Given the description of an element on the screen output the (x, y) to click on. 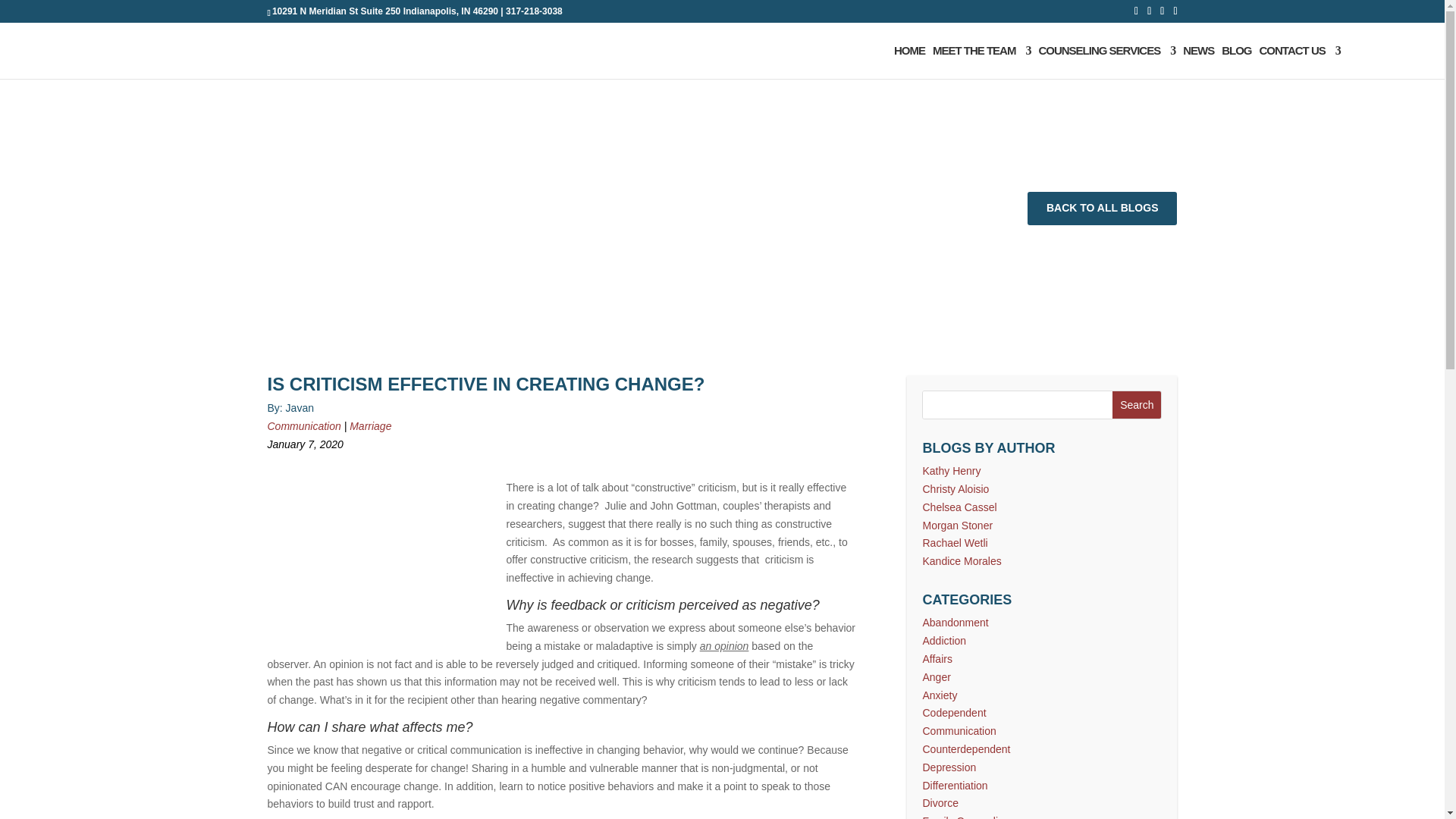
MEET THE TEAM (981, 61)
COUNSELING SERVICES (1106, 61)
Search (1136, 404)
317-218-3038 (533, 10)
HOME (908, 61)
Search (1136, 404)
